Given the description of an element on the screen output the (x, y) to click on. 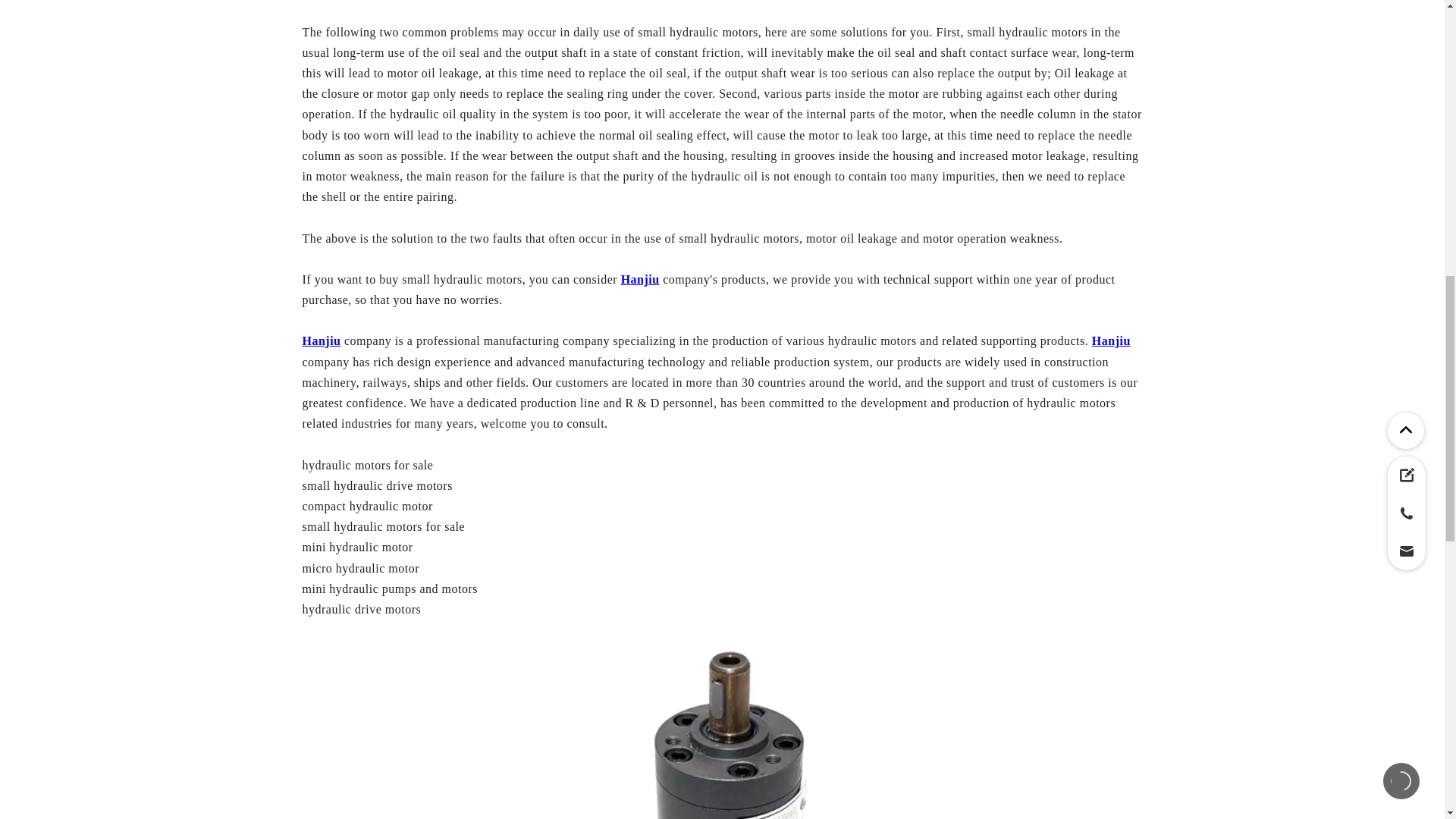
Hanjiu (640, 278)
Hanjiu (1111, 340)
Hanjiu (320, 340)
